Given the description of an element on the screen output the (x, y) to click on. 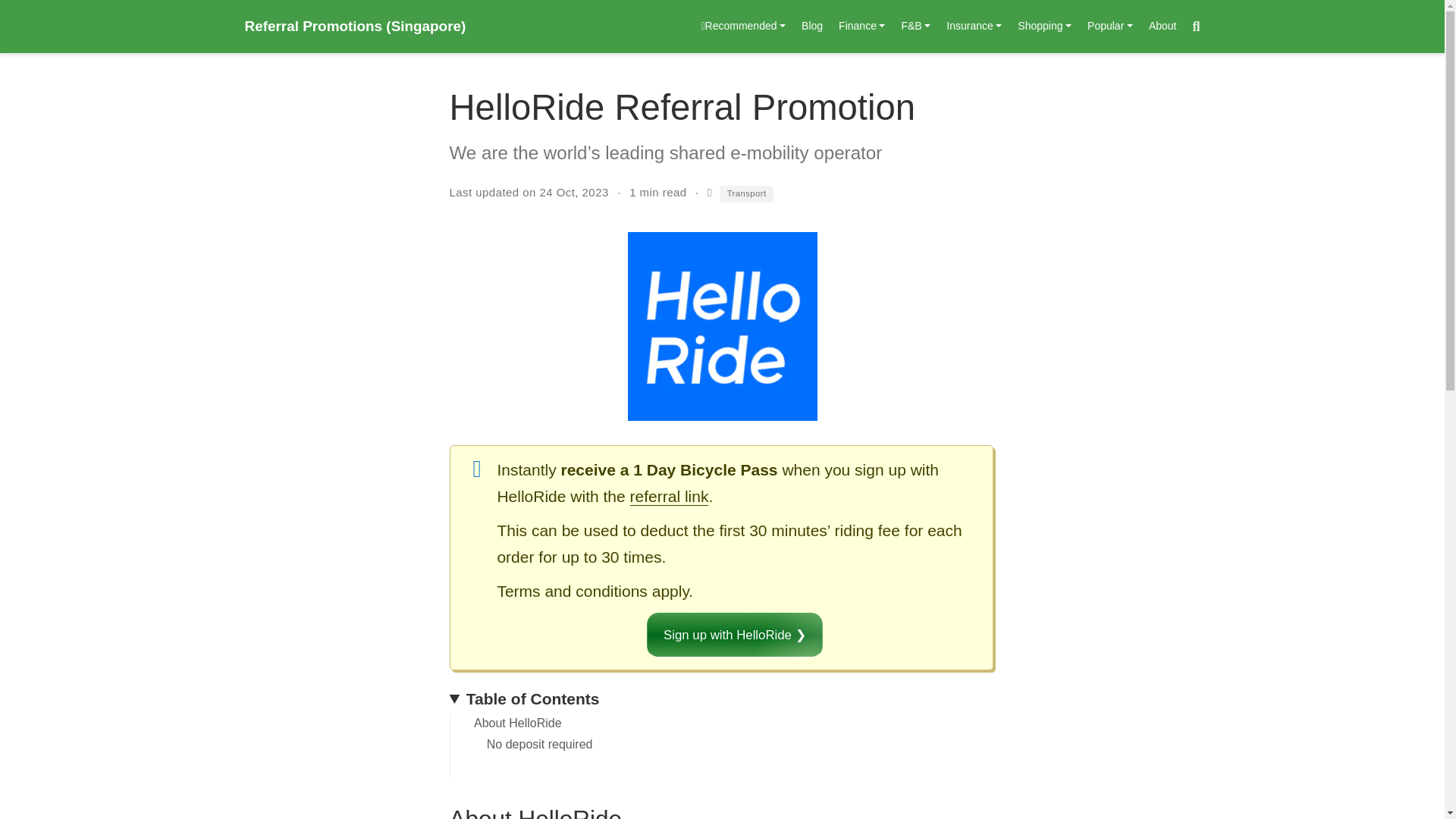
Finance (862, 26)
Shopping (1045, 26)
Blog (812, 26)
Insurance (974, 26)
